Given the description of an element on the screen output the (x, y) to click on. 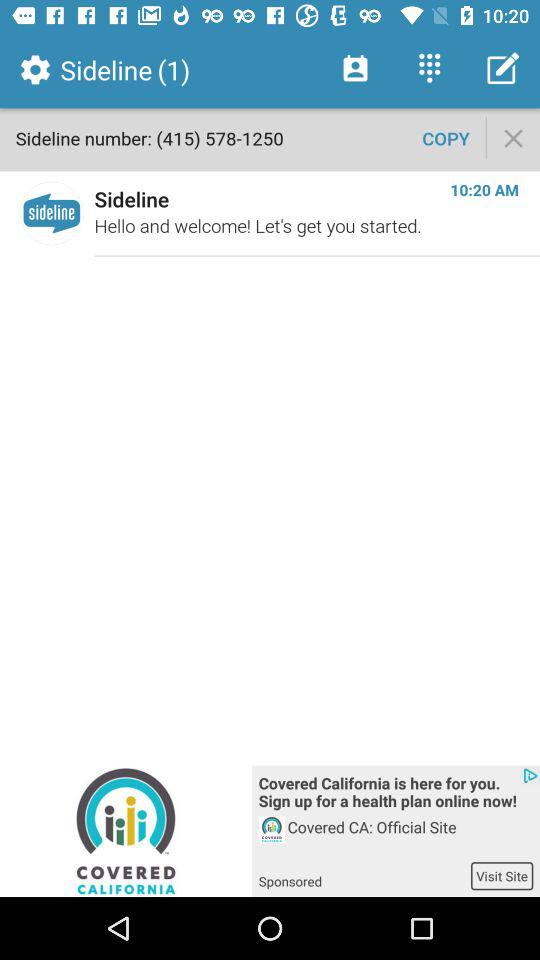
click the icon below the covered ca official icon (502, 876)
